Given the description of an element on the screen output the (x, y) to click on. 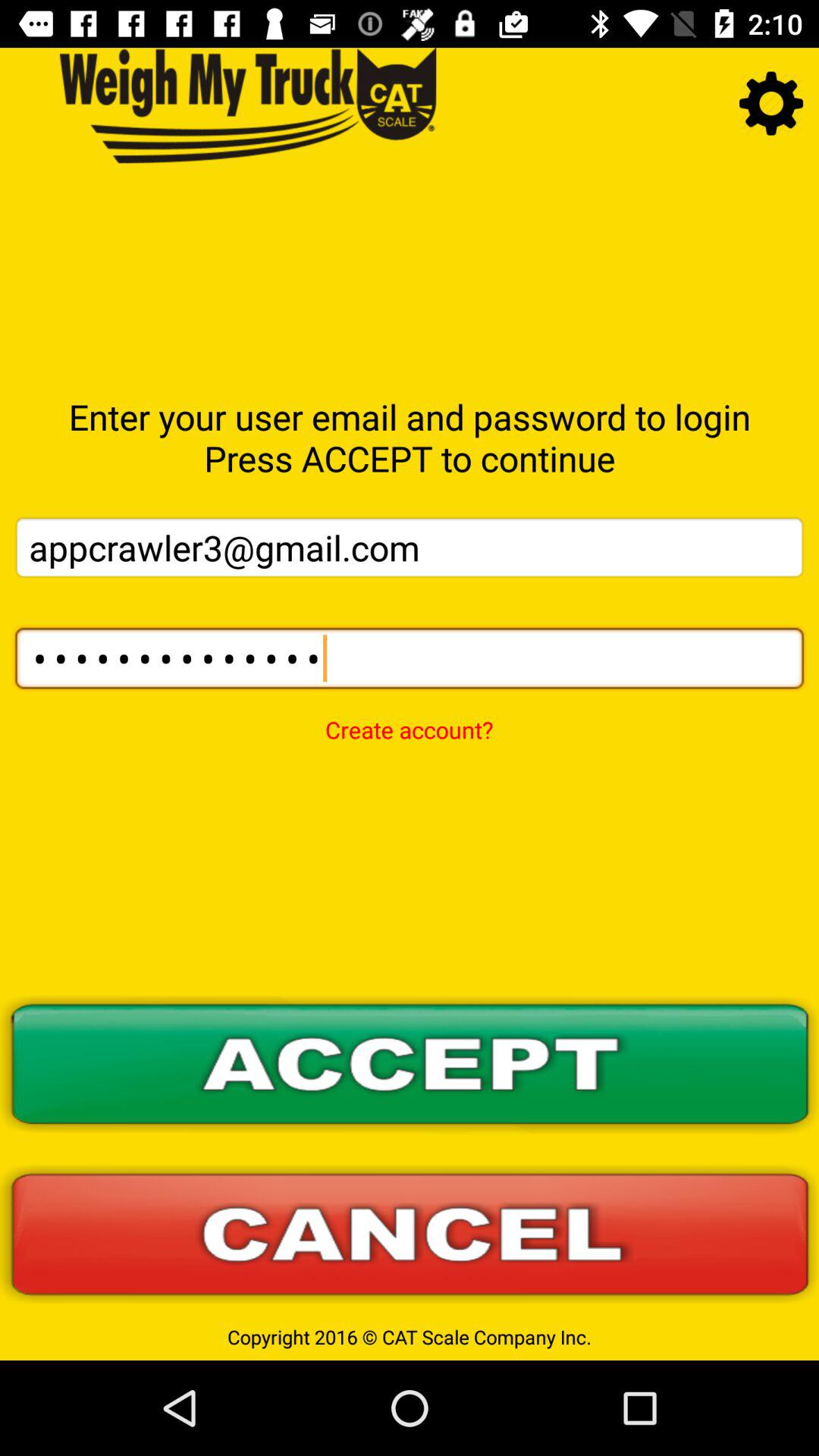
scroll until appcrawler3116 (409, 657)
